Given the description of an element on the screen output the (x, y) to click on. 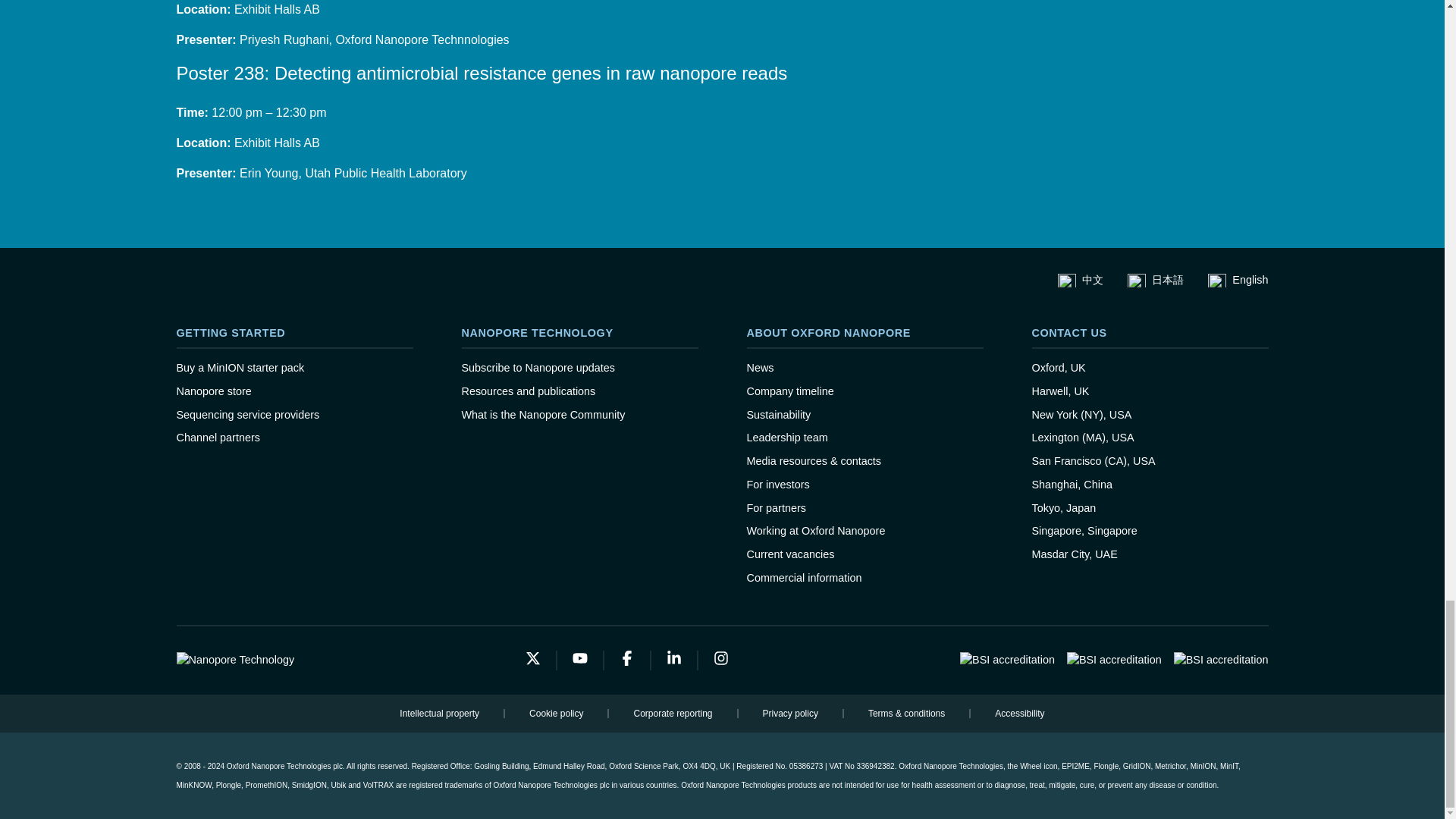
Facebook (627, 660)
Twitter (534, 660)
Instagram (721, 660)
Linkedin (674, 660)
YouTube (580, 660)
